Given the description of an element on the screen output the (x, y) to click on. 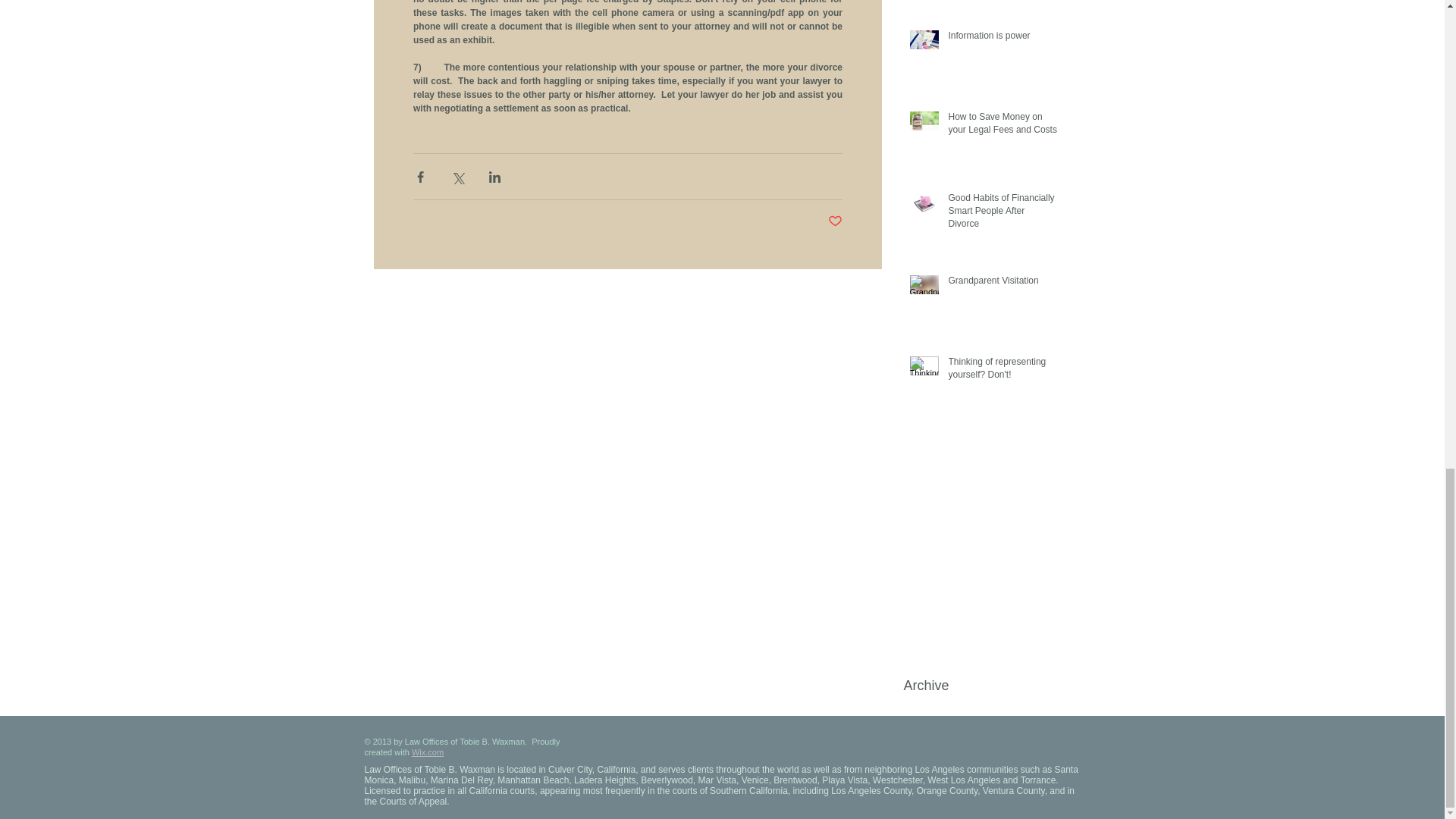
Post not marked as liked (835, 221)
